Given the description of an element on the screen output the (x, y) to click on. 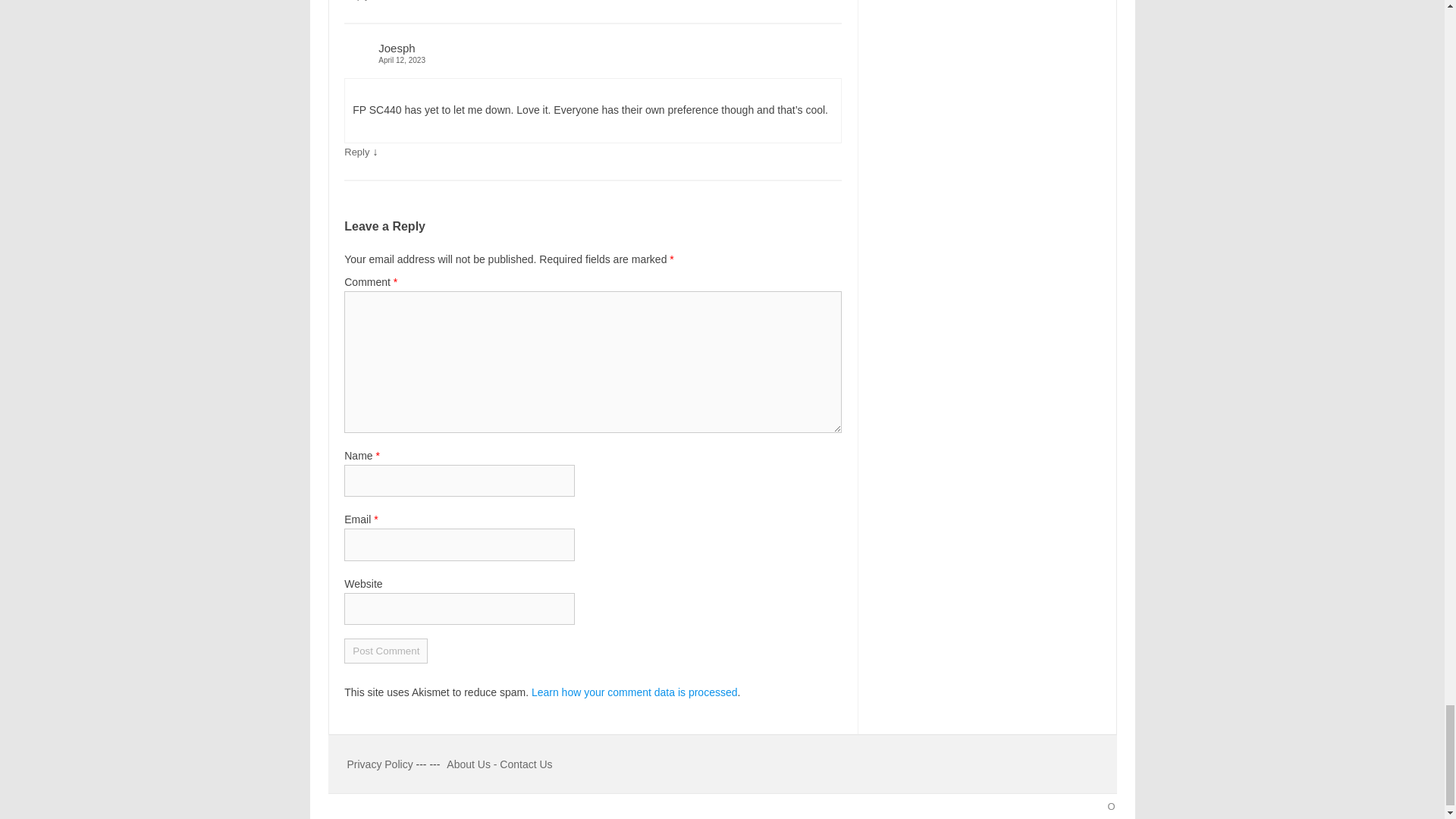
Privacy Policy (381, 764)
Learn how your comment data is processed (634, 692)
Reply (356, 152)
Post Comment (385, 650)
April 12, 2023 (592, 60)
Post Comment (385, 650)
